Given the description of an element on the screen output the (x, y) to click on. 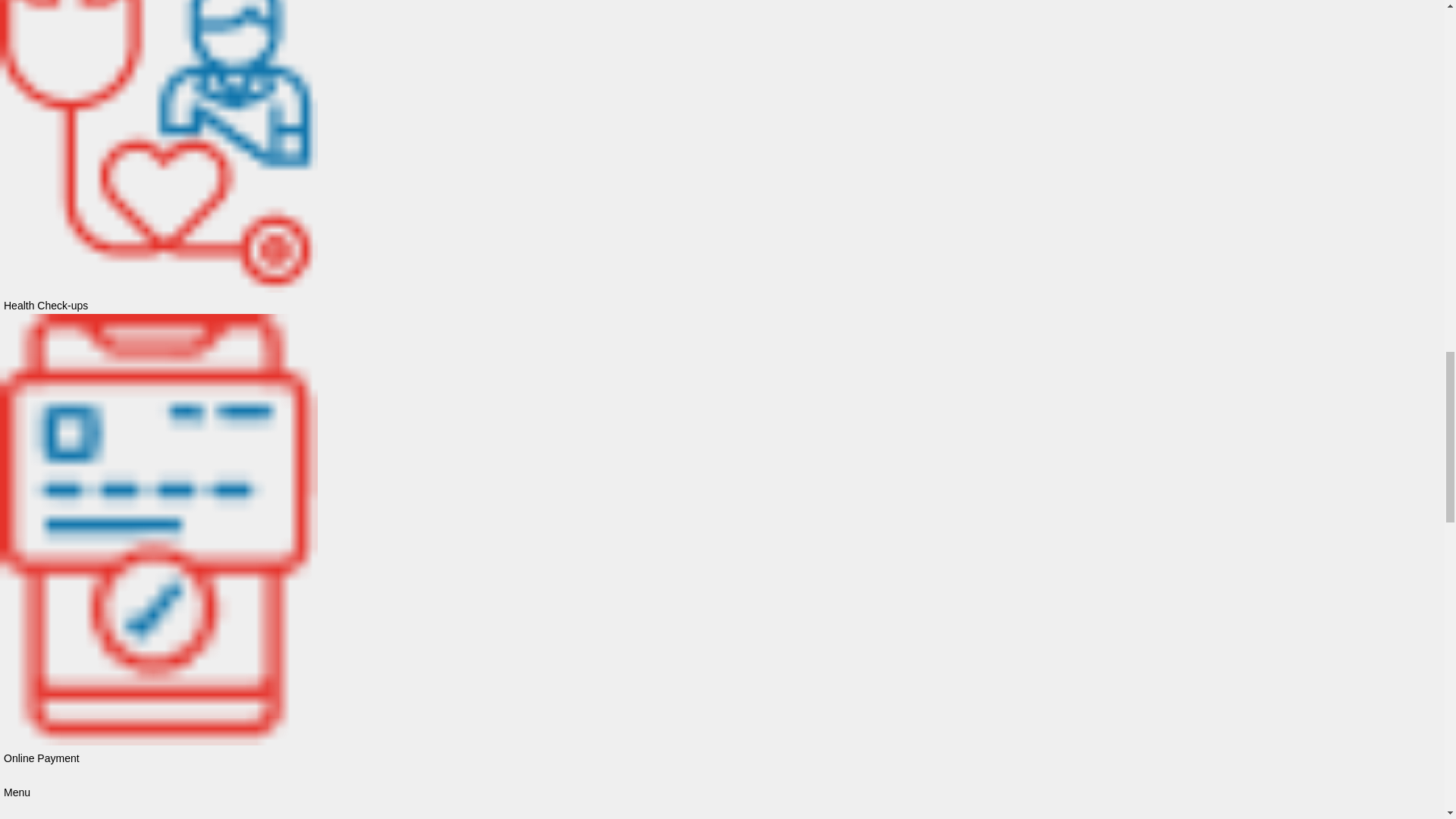
Winter Diseases: Much awaited winter its highs and lows (451, 698)
Read more (330, 531)
Read more (330, 757)
Breathing exercises to elevate your Mind (408, 472)
